Given the description of an element on the screen output the (x, y) to click on. 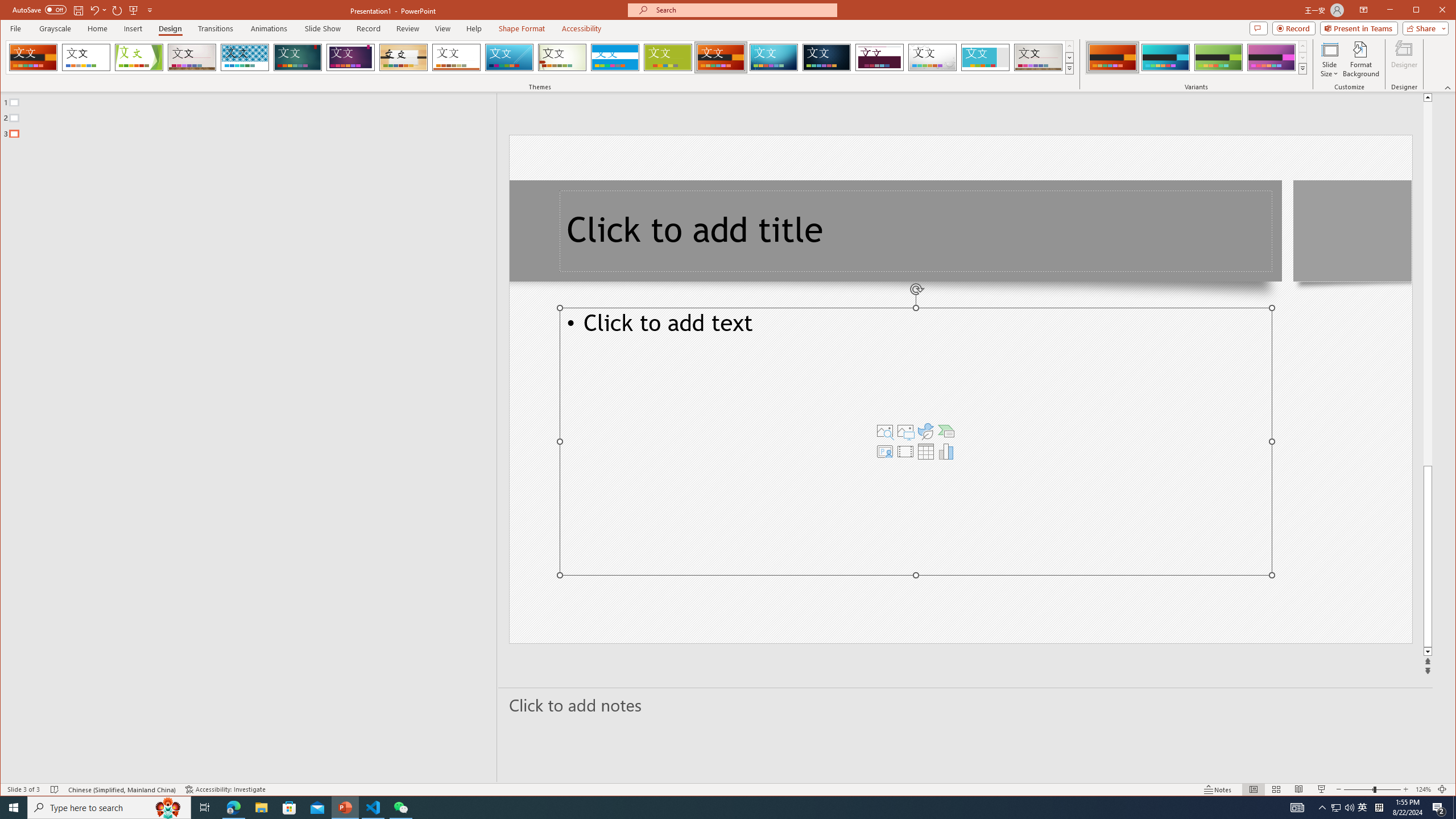
Organic (403, 57)
Berlin Variant 2 (1165, 57)
